Given the description of an element on the screen output the (x, y) to click on. 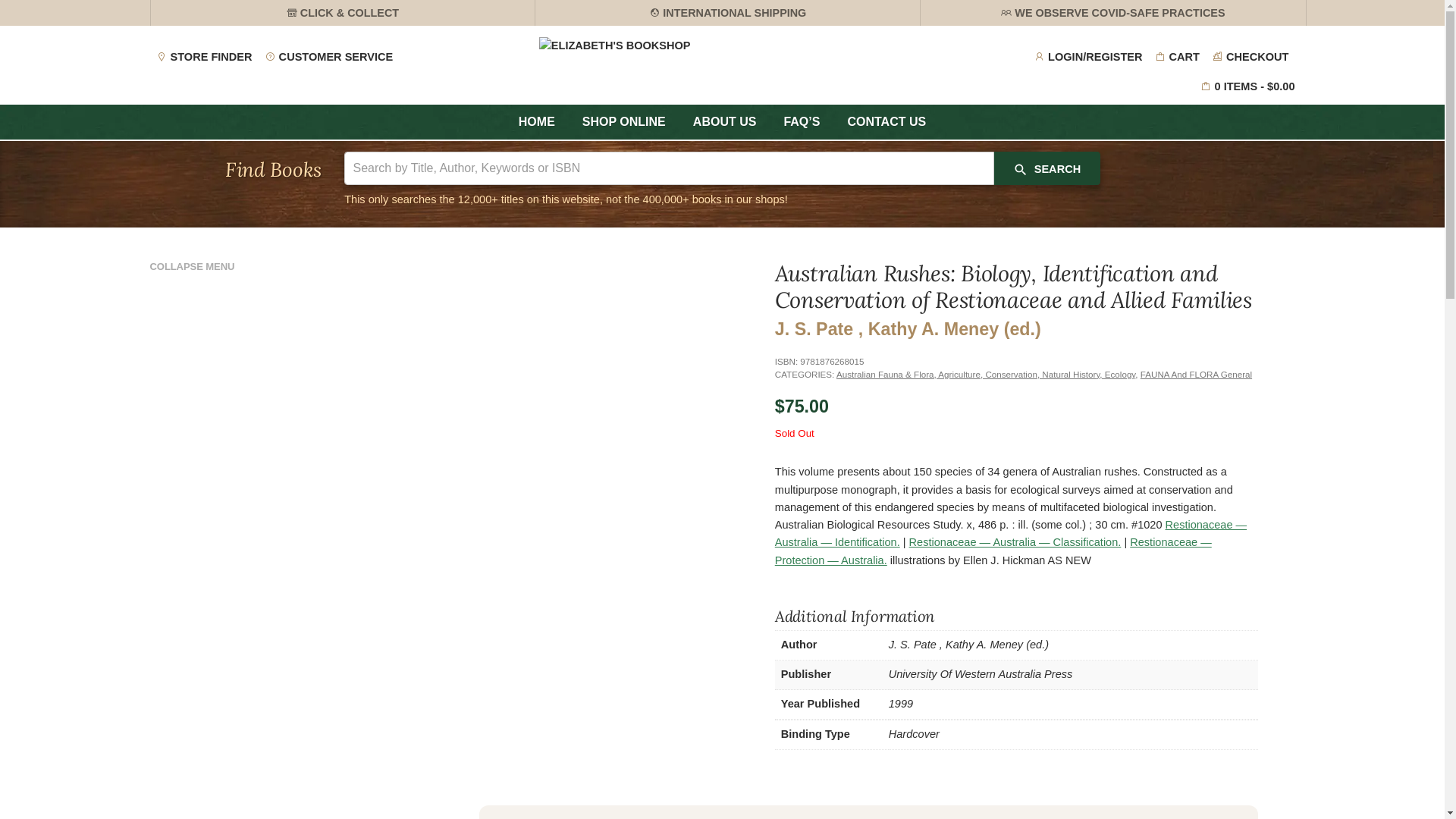
HOME Element type: text (536, 121)
SHOP Element type: text (202, 104)
CHECKOUT Element type: text (1249, 57)
SHOP ONLINE Element type: text (623, 121)
FAUNA And FLORA General Element type: text (1196, 374)
SHARE Element type: text (1217, 101)
ABOUT US Element type: text (724, 121)
INTERNATIONAL SHIPPING Element type: text (727, 12)
STORE FINDER Element type: text (204, 57)
PRINT Element type: text (1273, 101)
CLICK & COLLECT Element type: text (342, 12)
LOGIN/REGISTER Element type: text (1087, 57)
COLLAPSE MENU Element type: text (266, 269)
CART Element type: text (1176, 57)
HOME Element type: text (165, 104)
CONTACT US Element type: text (886, 121)
AUSTRALIANA Element type: text (259, 104)
WE OBSERVE COVID-SAFE PRACTICES Element type: text (1112, 12)
CUSTOMER SERVICE Element type: text (328, 57)
0 ITEMS - $0.00 Element type: text (1247, 86)
